Given the description of an element on the screen output the (x, y) to click on. 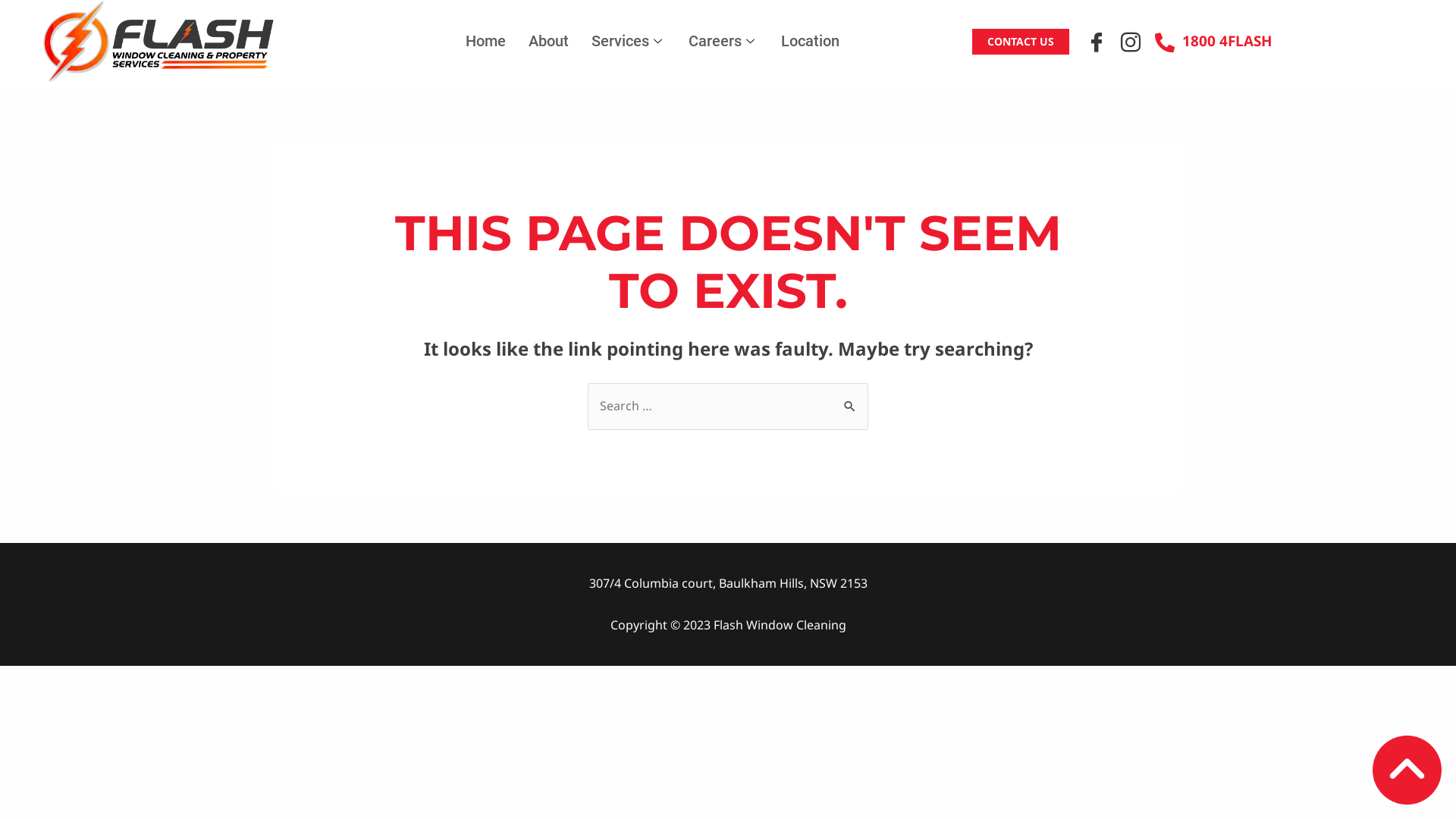
Home Element type: text (485, 41)
1800 4FLASH Element type: text (1213, 41)
Services Element type: text (628, 41)
Location Element type: text (809, 41)
Search Element type: text (851, 397)
Careers Element type: text (723, 41)
CONTACT US Element type: text (1020, 41)
About Element type: text (548, 41)
